Given the description of an element on the screen output the (x, y) to click on. 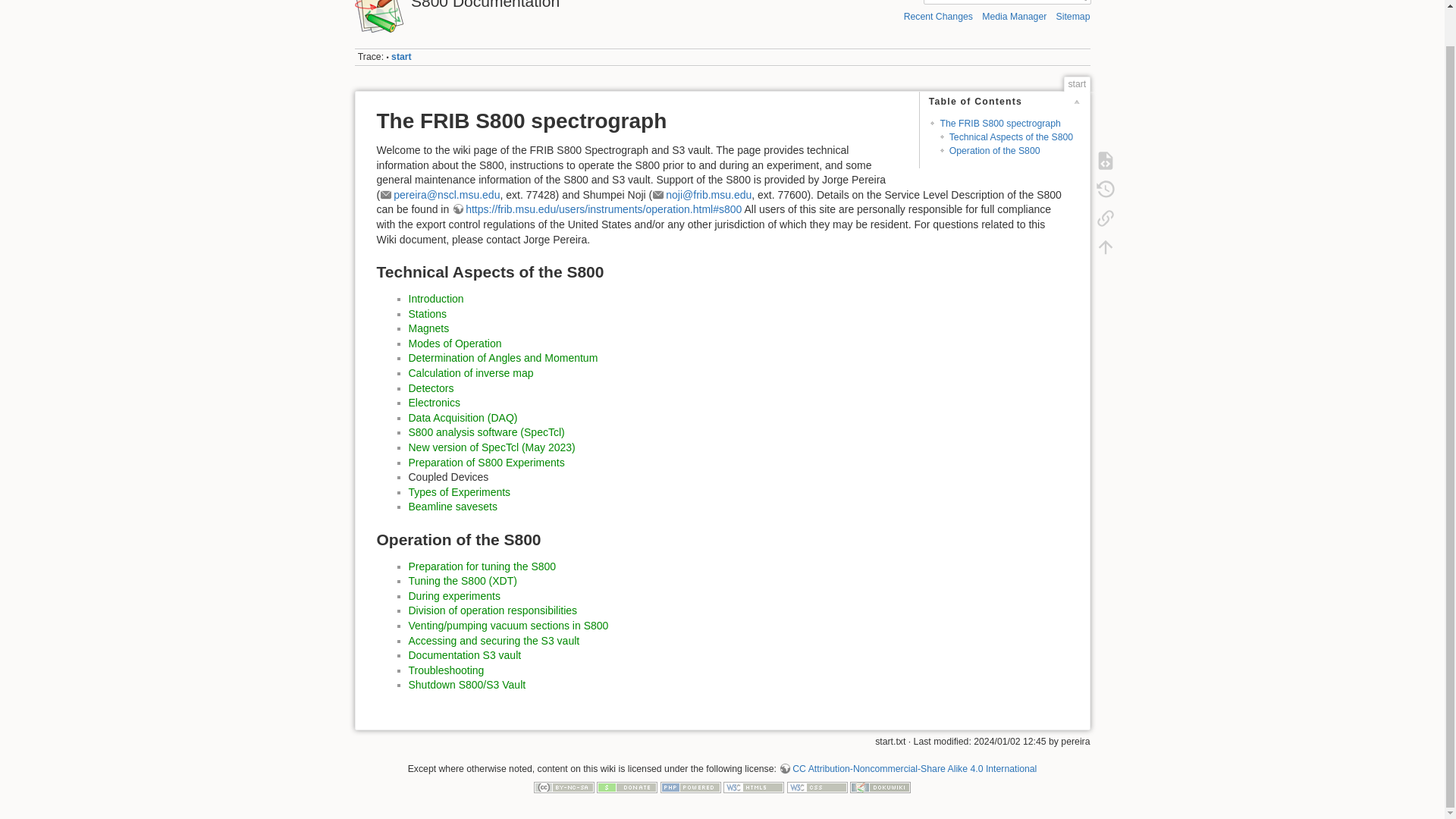
Stations (426, 313)
Operation of the S800 (995, 150)
Media Manager (1013, 16)
Accessing and securing the S3 vault (493, 640)
Division of operation responsibilities (491, 610)
Media Manager (1013, 16)
Types of Experiments (459, 491)
Sitemap (1073, 16)
Introduction (435, 298)
S800 Documentation (534, 5)
Documentation S3 vault (464, 654)
Detectors (429, 387)
start (401, 56)
Preparation for tuning the S800 (481, 566)
